Given the description of an element on the screen output the (x, y) to click on. 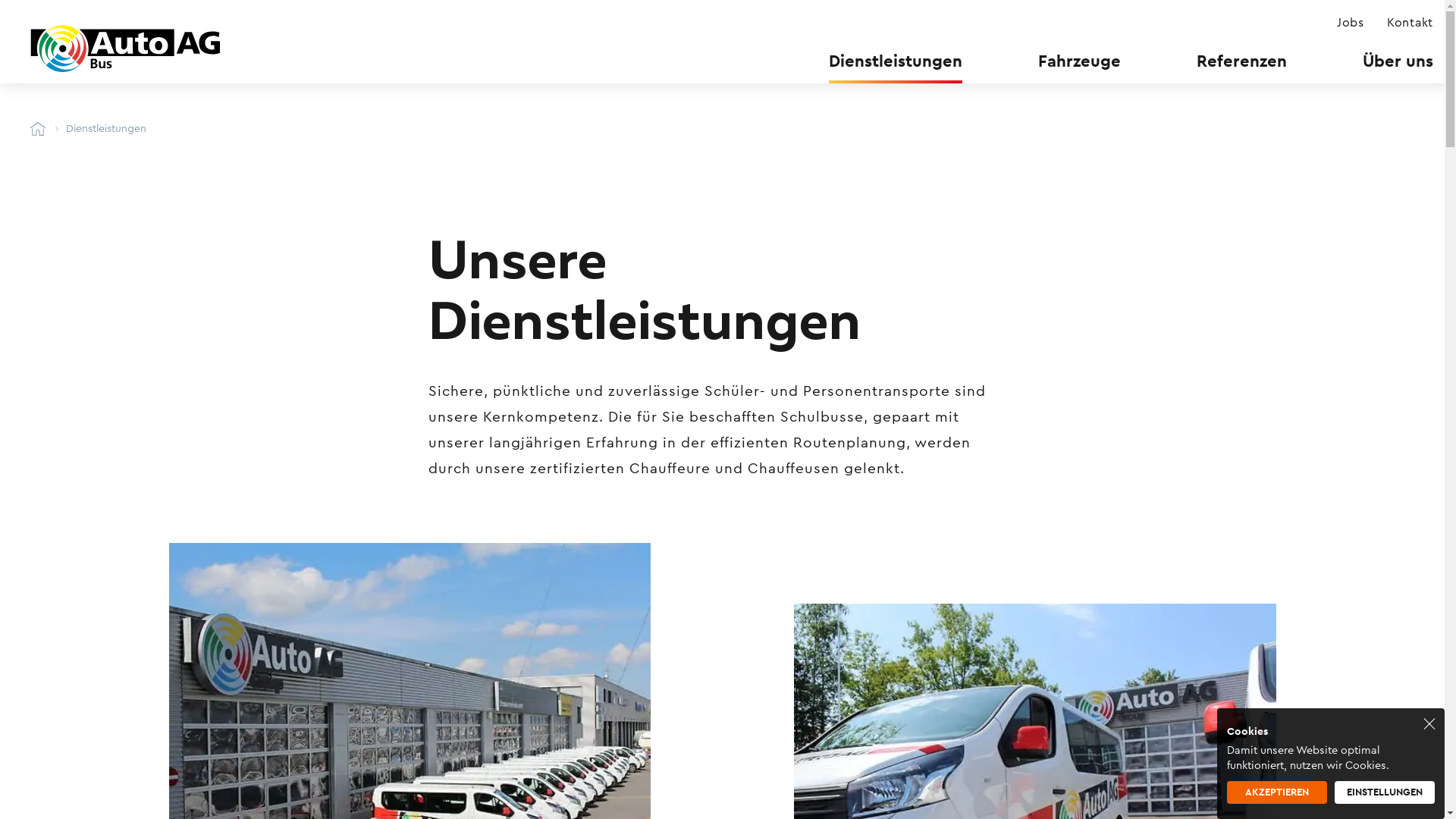
Jobs Element type: text (1350, 22)
Close Element type: text (1429, 723)
Dienstleistungen Element type: text (895, 60)
AKZEPTIEREN Element type: text (1276, 792)
EINSTELLUNGEN Element type: text (1384, 792)
Fahrzeuge Element type: text (1078, 60)
Auto AG Bus Element type: text (37, 128)
Startseite Element type: text (124, 48)
Kontakt Element type: text (1409, 22)
Referenzen Element type: text (1241, 60)
Open sub menu Element type: text (11, 11)
